Given the description of an element on the screen output the (x, y) to click on. 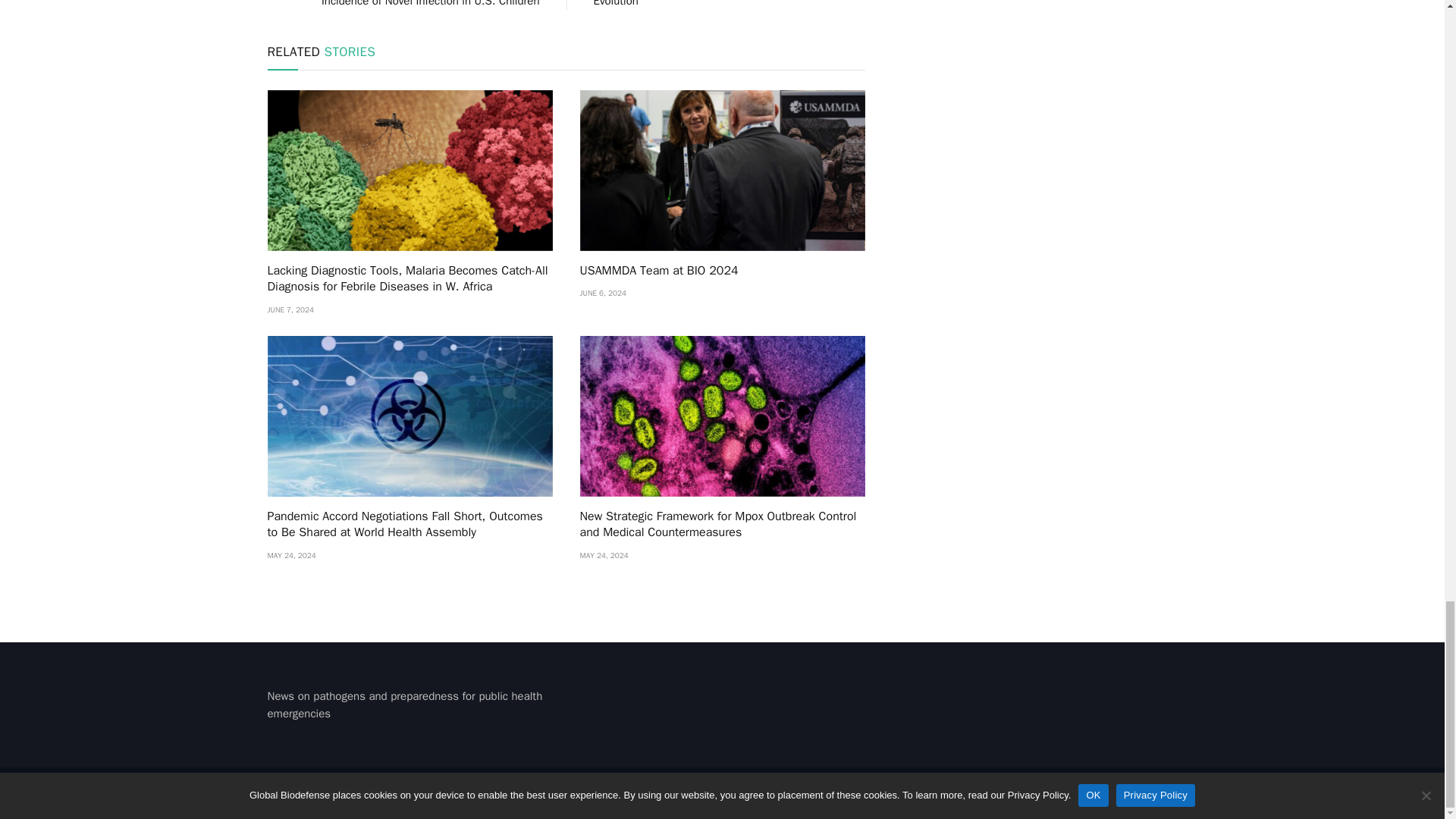
Mutations in SARS-Cov-2 Offer Insights Into Virus Evolution (715, 4)
